Given the description of an element on the screen output the (x, y) to click on. 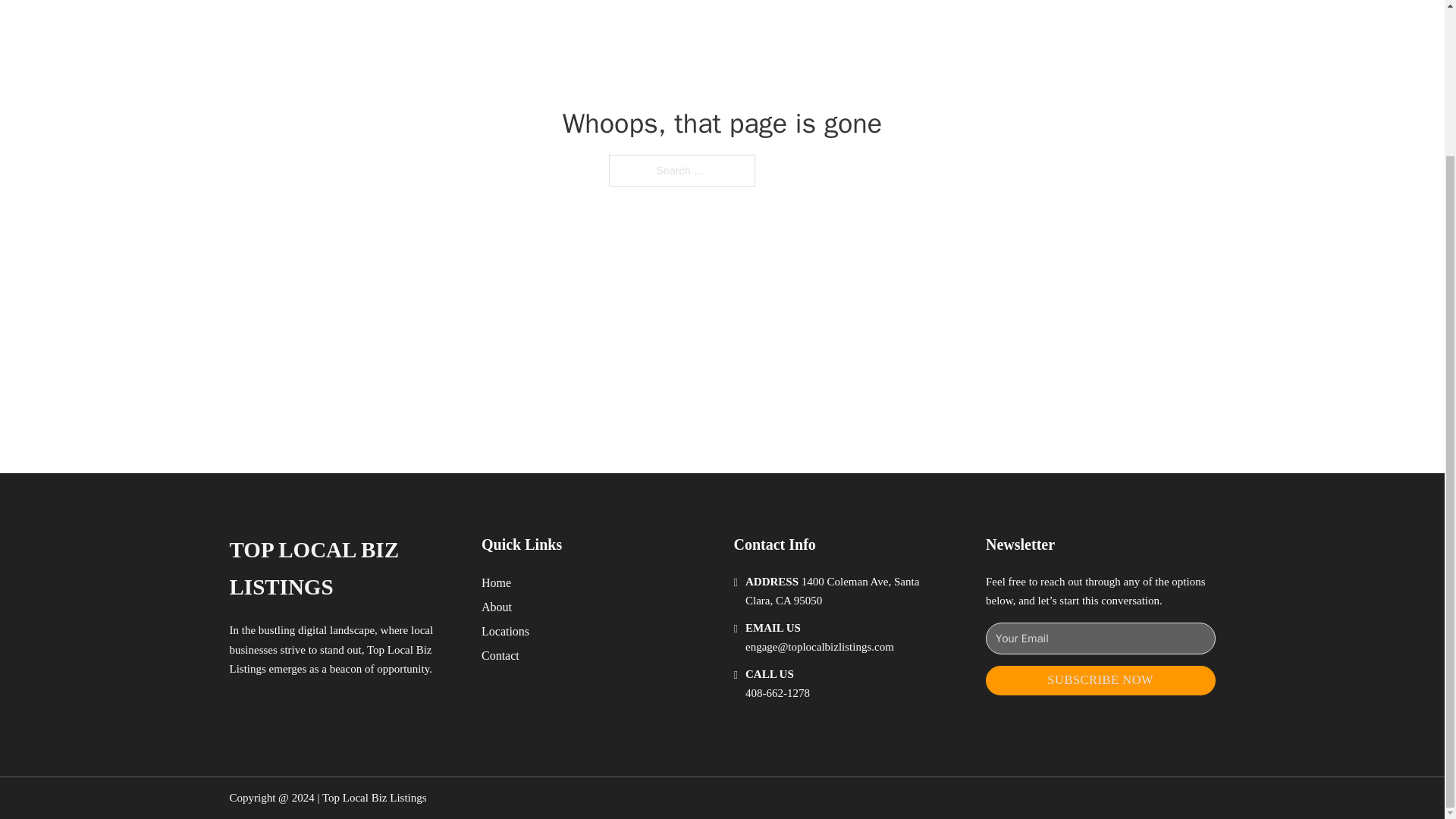
SUBSCRIBE NOW (1100, 680)
Contact (500, 655)
Home (496, 582)
TOP LOCAL BIZ LISTINGS (343, 568)
408-662-1278 (777, 693)
Locations (505, 630)
About (496, 607)
